Given the description of an element on the screen output the (x, y) to click on. 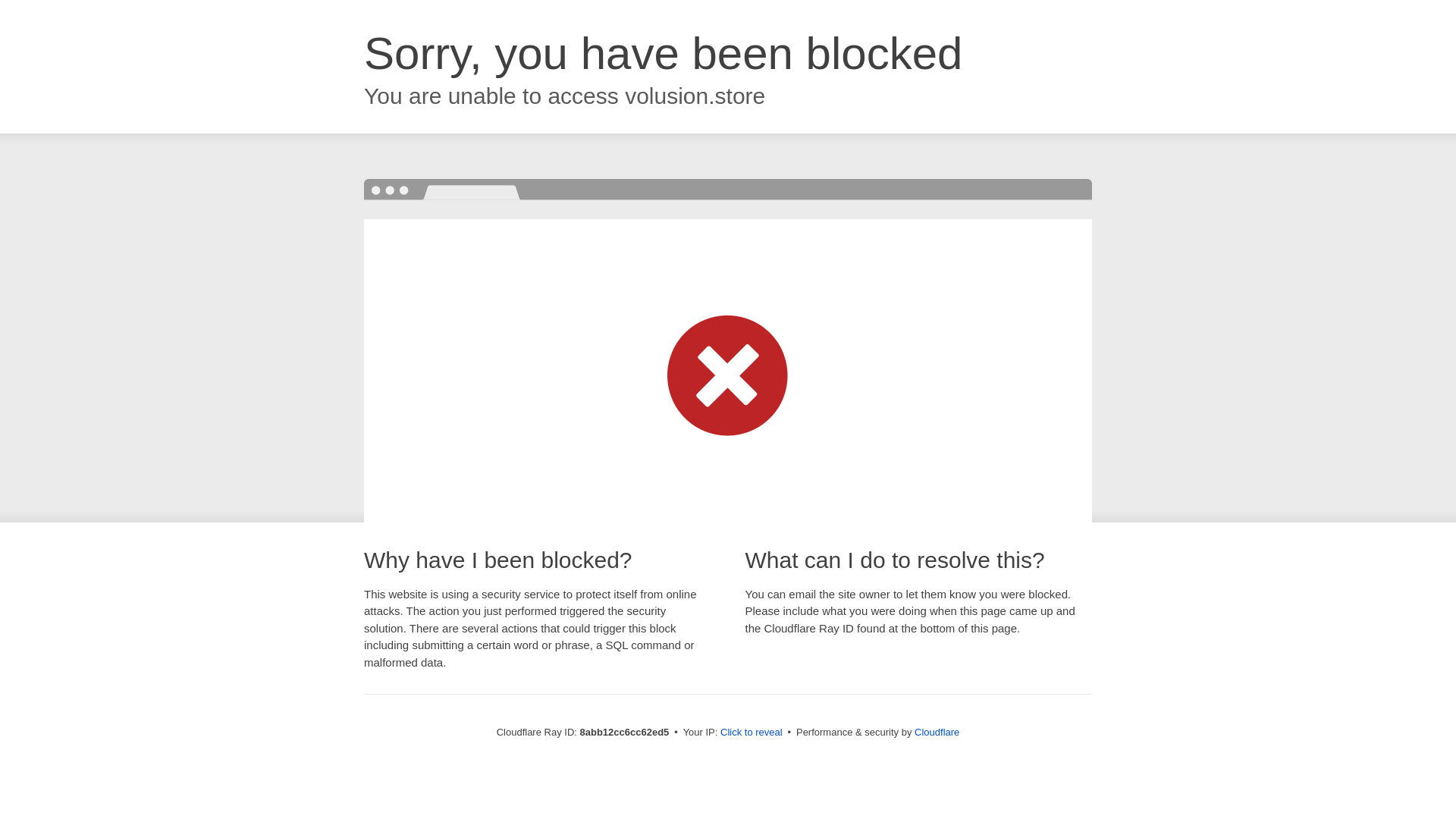
Click to reveal (751, 732)
Cloudflare (936, 731)
